Given the description of an element on the screen output the (x, y) to click on. 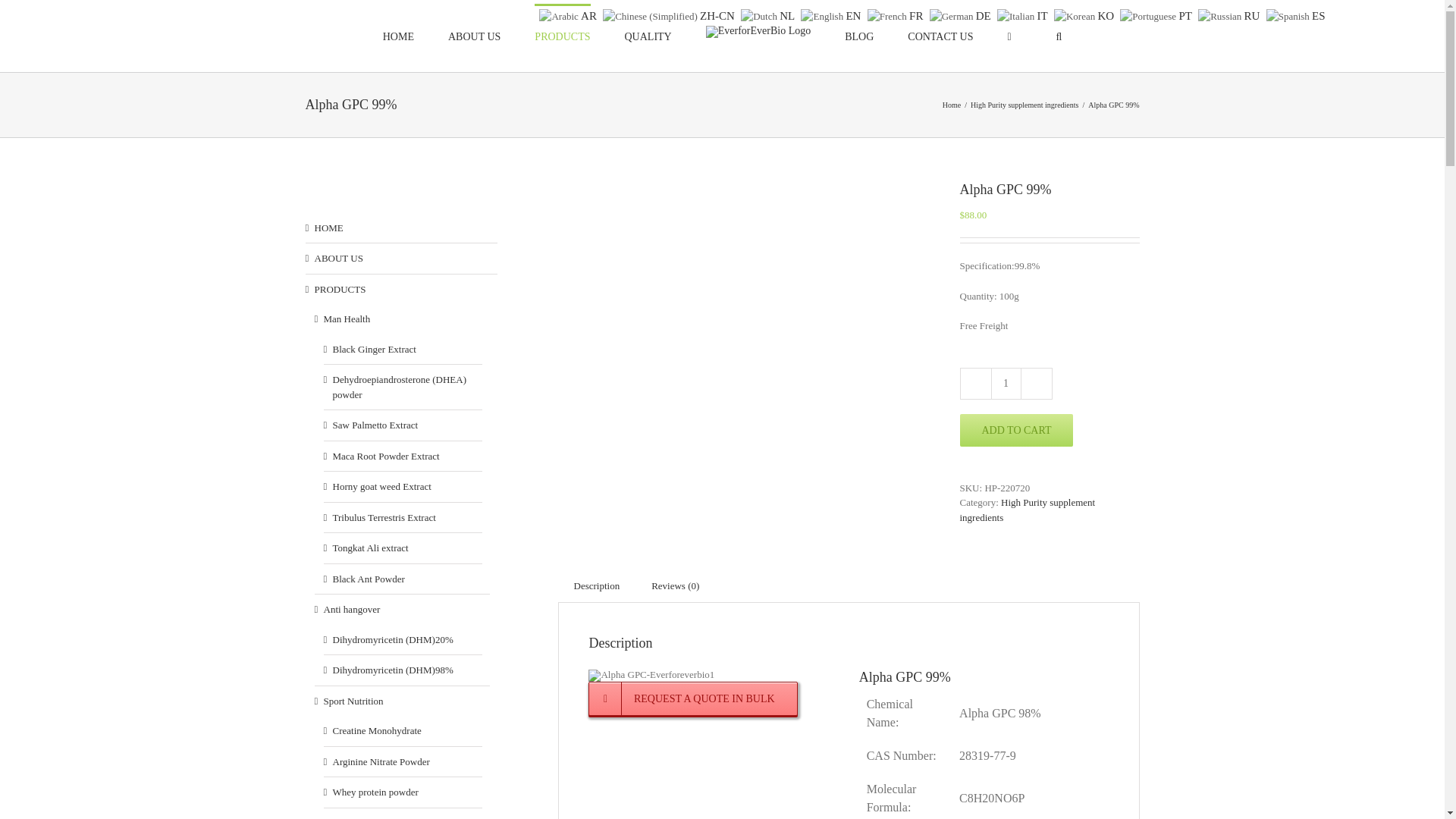
French (897, 14)
1 (1005, 383)
Qty (1005, 383)
English (832, 14)
Dutch (769, 14)
Alpha GPC-Everforeverbio1 (651, 675)
Arabic (568, 14)
